Given the description of an element on the screen output the (x, y) to click on. 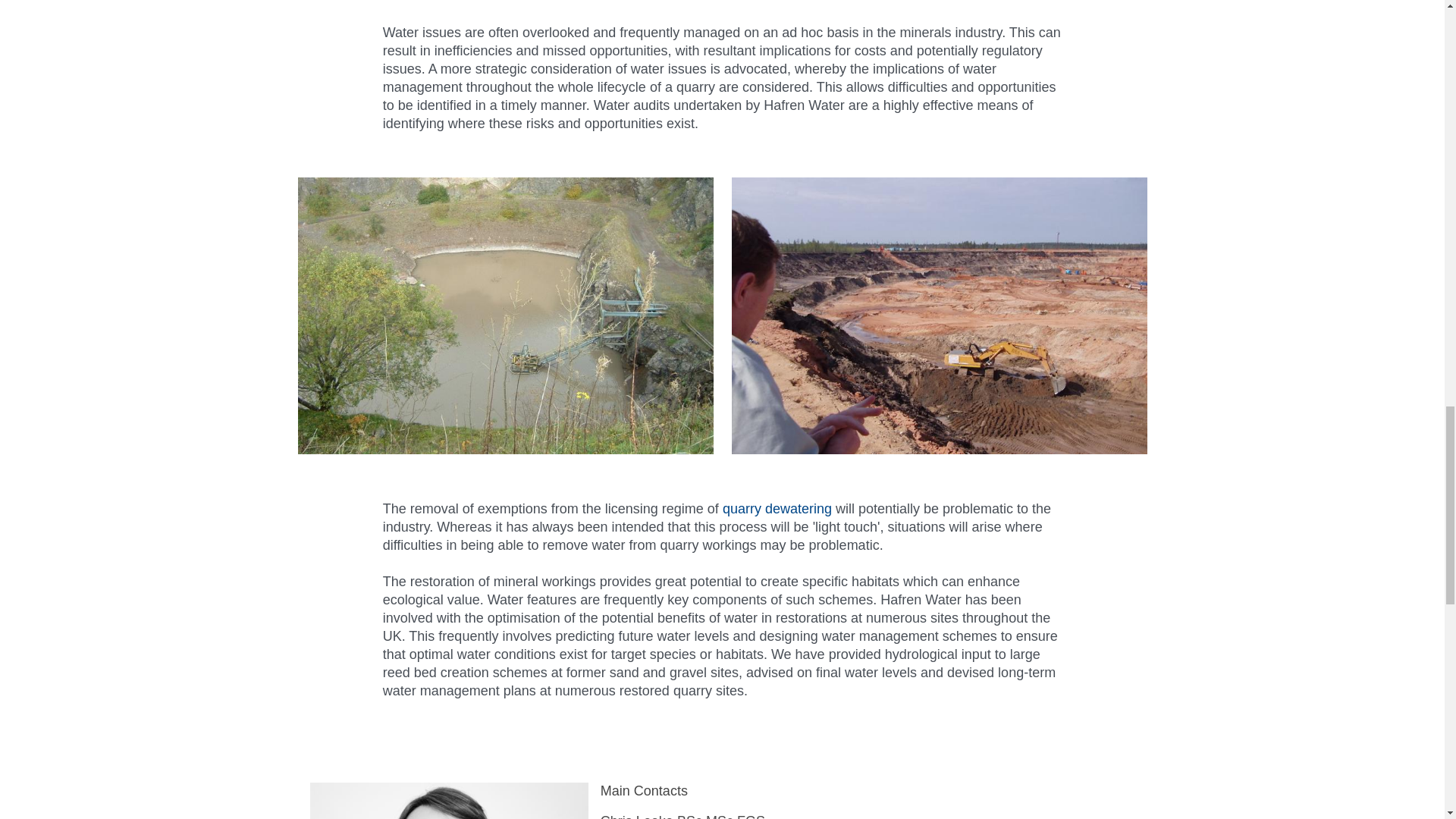
Title (505, 318)
Title (939, 318)
quarry dewatering (776, 508)
